Given the description of an element on the screen output the (x, y) to click on. 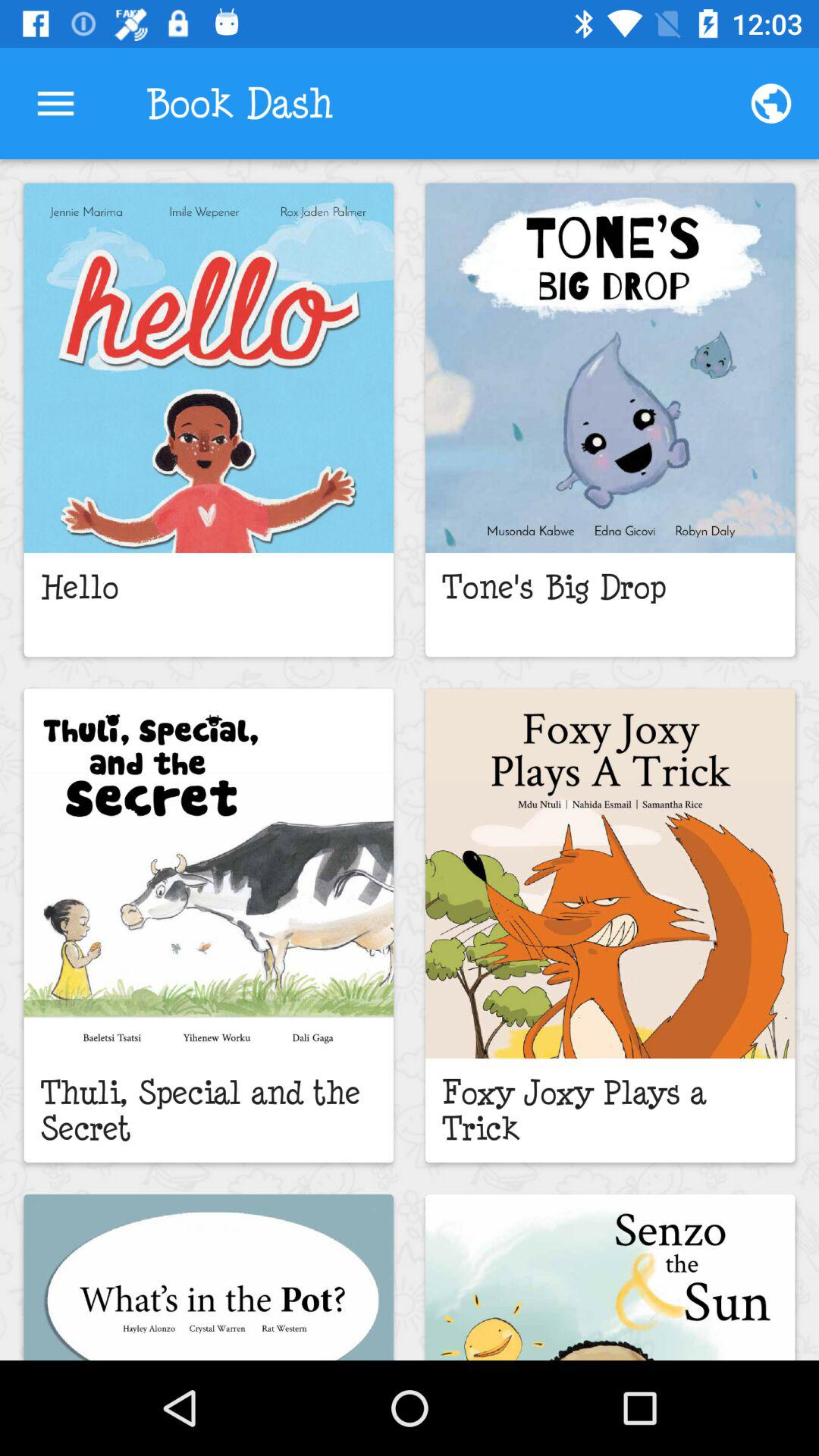
turn on the icon next to book dash (55, 103)
